Given the description of an element on the screen output the (x, y) to click on. 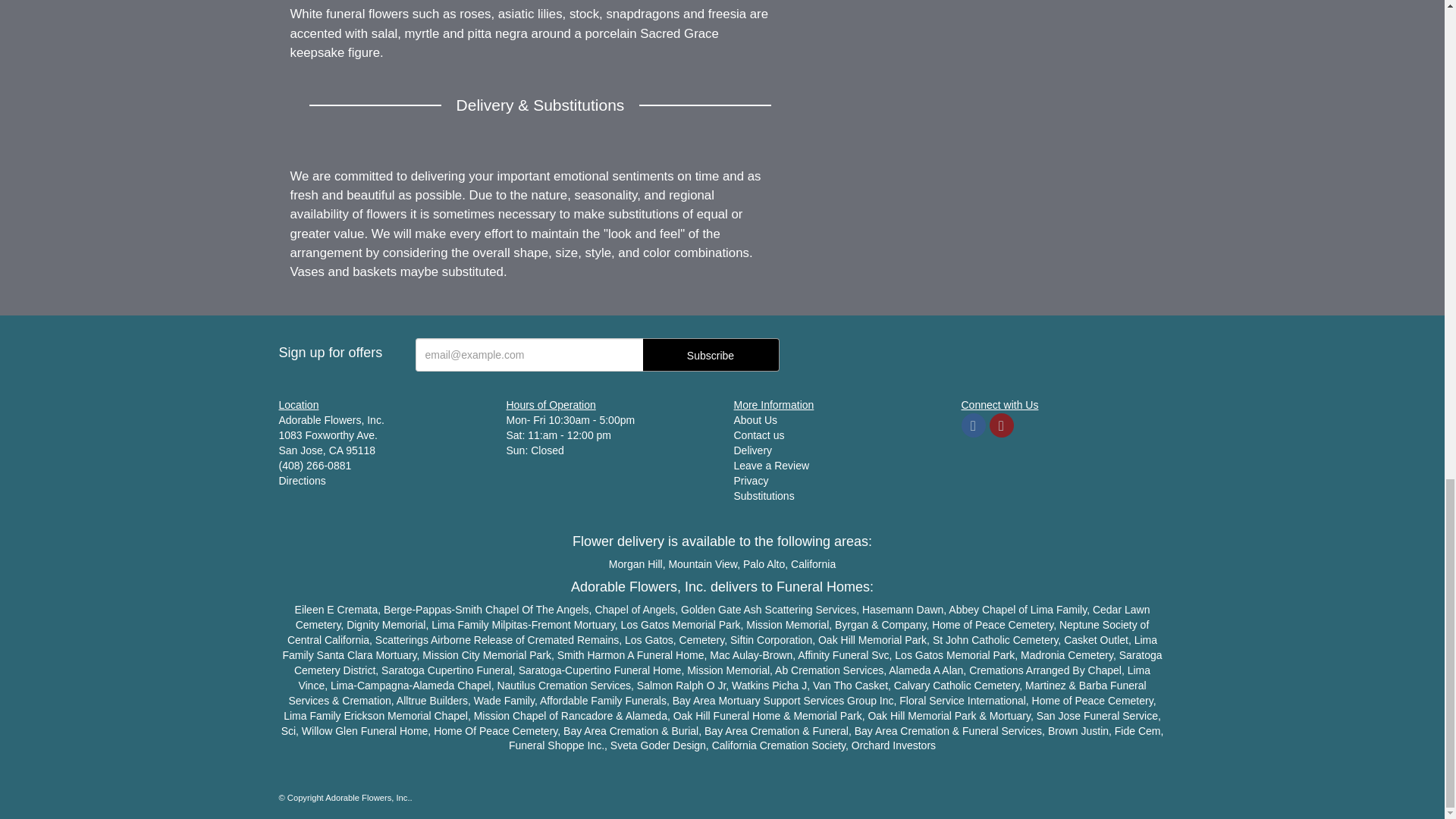
Subscribe (710, 354)
